Given the description of an element on the screen output the (x, y) to click on. 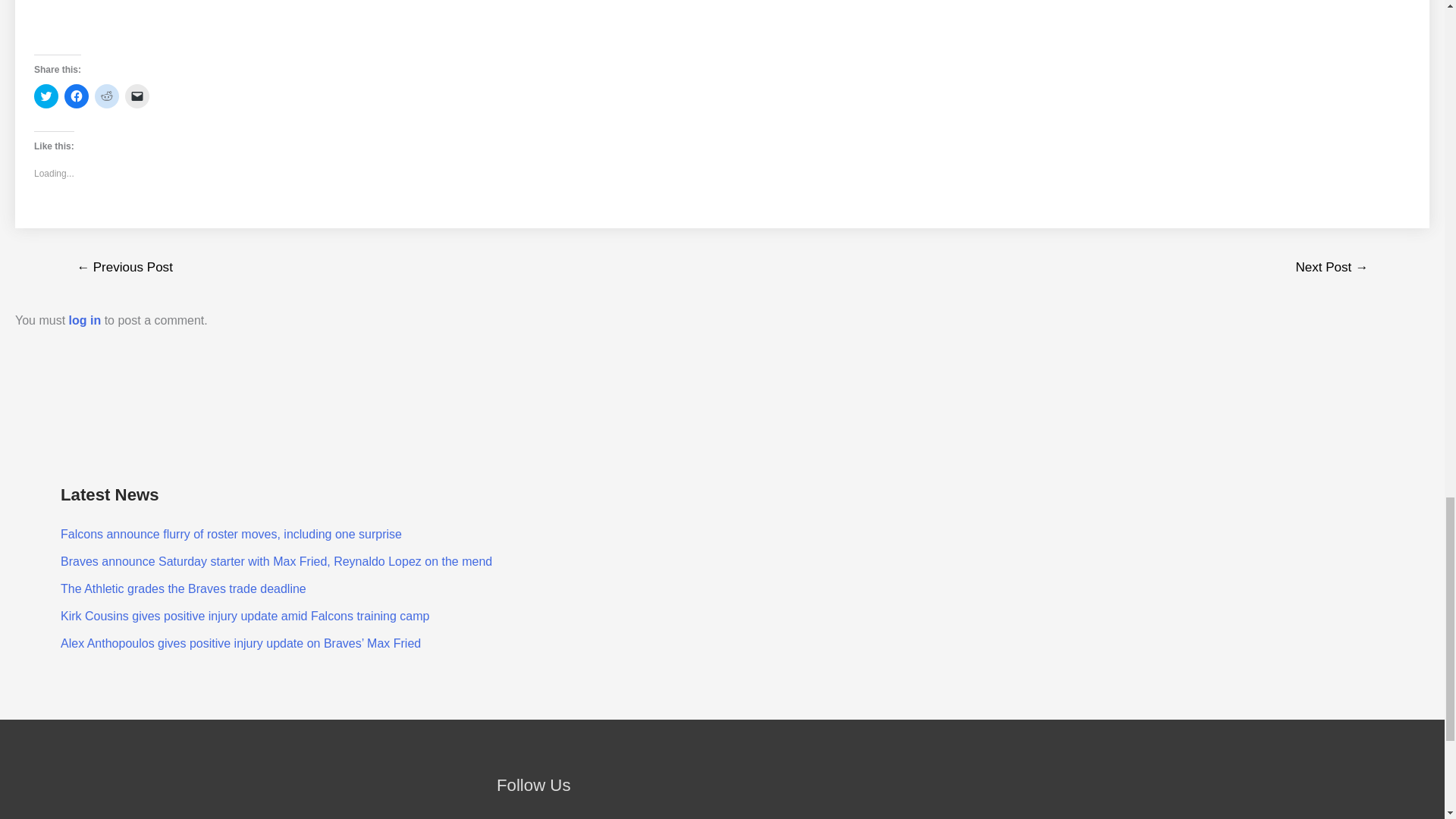
Click to share on Facebook (76, 96)
Click to email a link to a friend (137, 96)
Click to share on Reddit (106, 96)
Click to share on Twitter (45, 96)
